Given the description of an element on the screen output the (x, y) to click on. 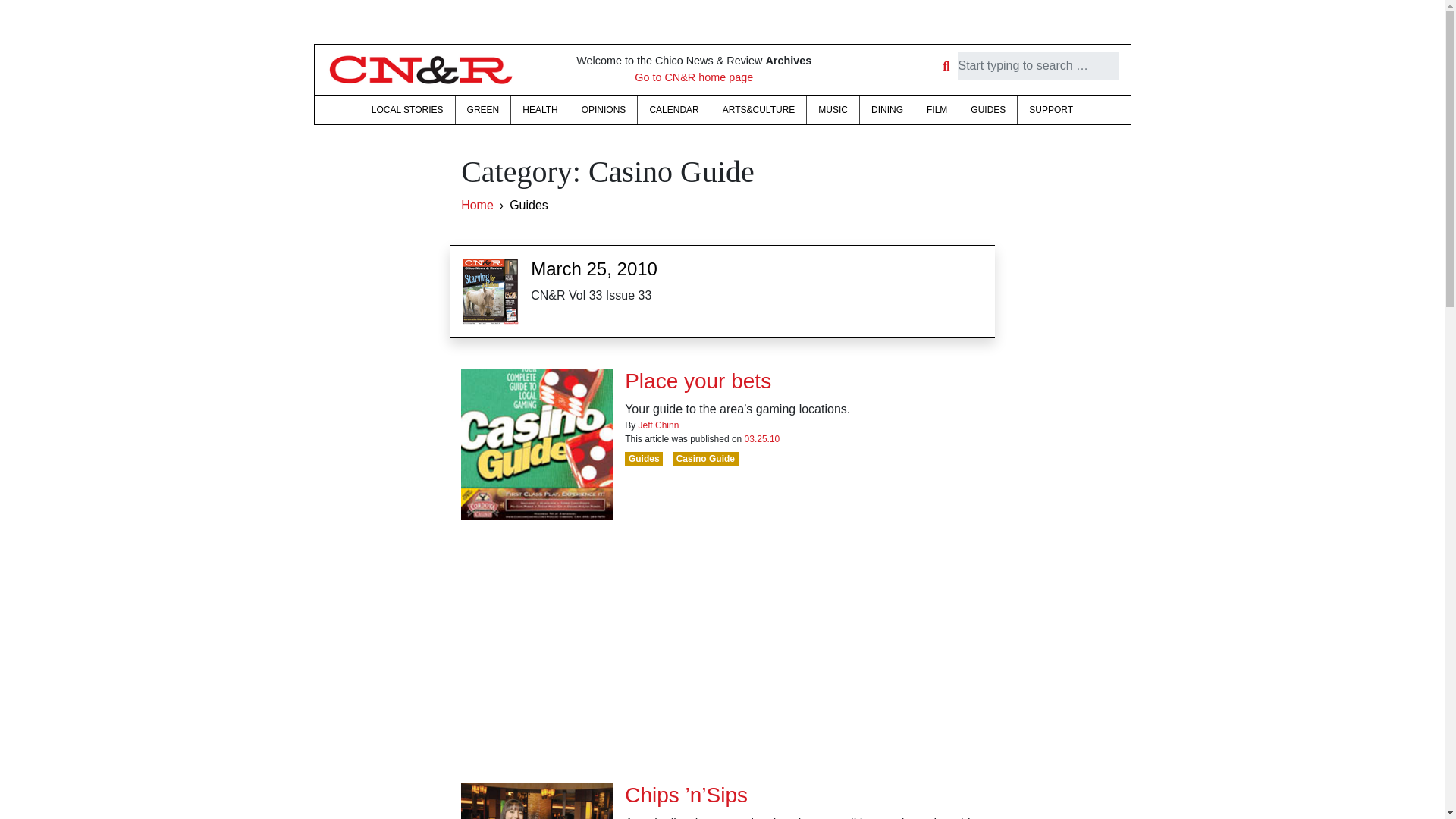
HEALTH (540, 109)
GUIDES (987, 109)
MUSIC (832, 109)
LOCAL STORIES (406, 109)
Jeff Chinn (659, 425)
03.25.10 (762, 439)
Place your bets (697, 381)
GREEN (483, 109)
SUPPORT (1050, 109)
March 25, 2010 (594, 268)
